Given the description of an element on the screen output the (x, y) to click on. 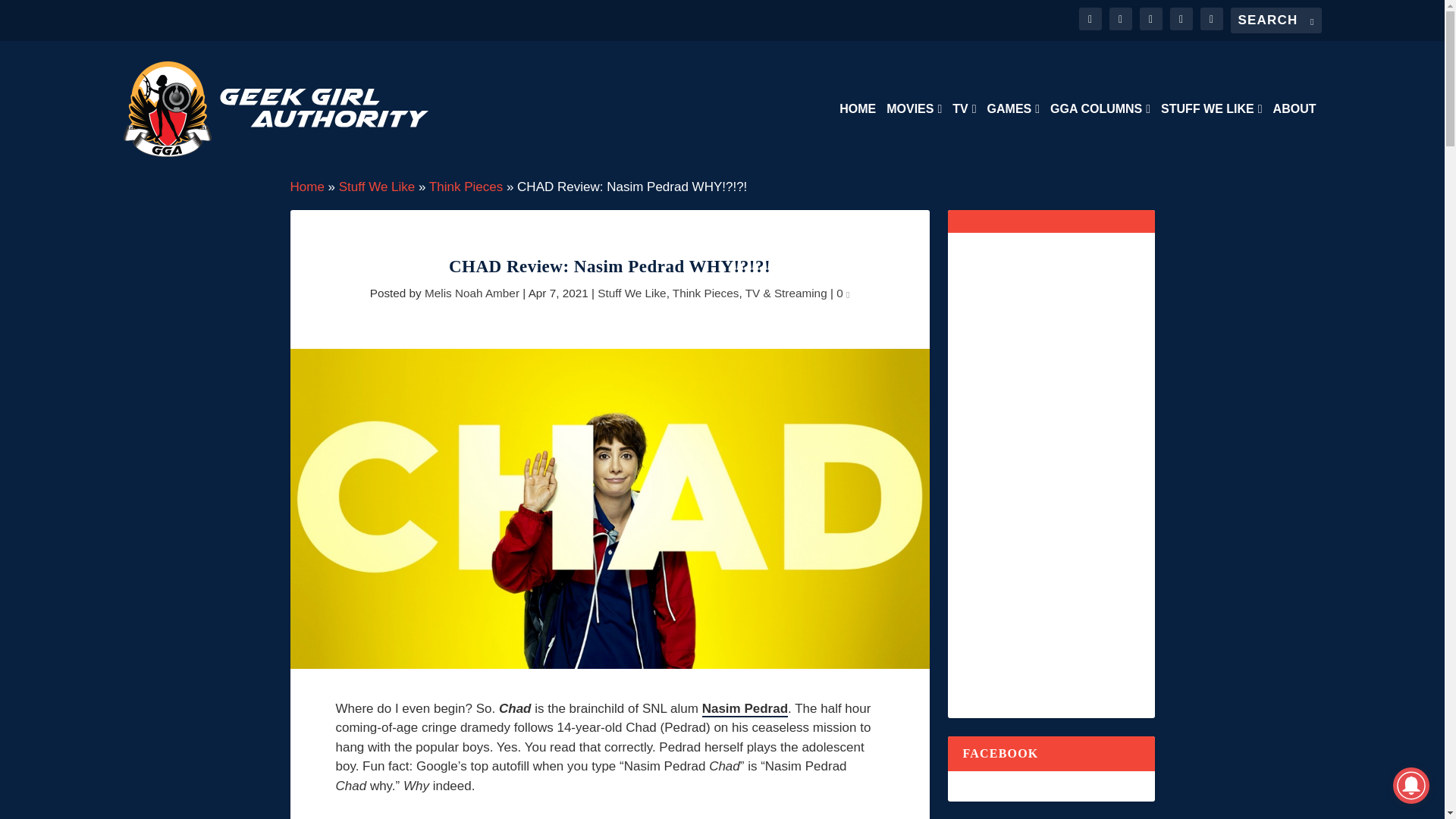
Posts by Melis Noah Amber (472, 292)
TV (963, 140)
comment count (846, 294)
GGA COLUMNS (1099, 140)
GAMES (1014, 140)
MOVIES (914, 140)
HOME (858, 140)
Search for: (1275, 20)
